Given the description of an element on the screen output the (x, y) to click on. 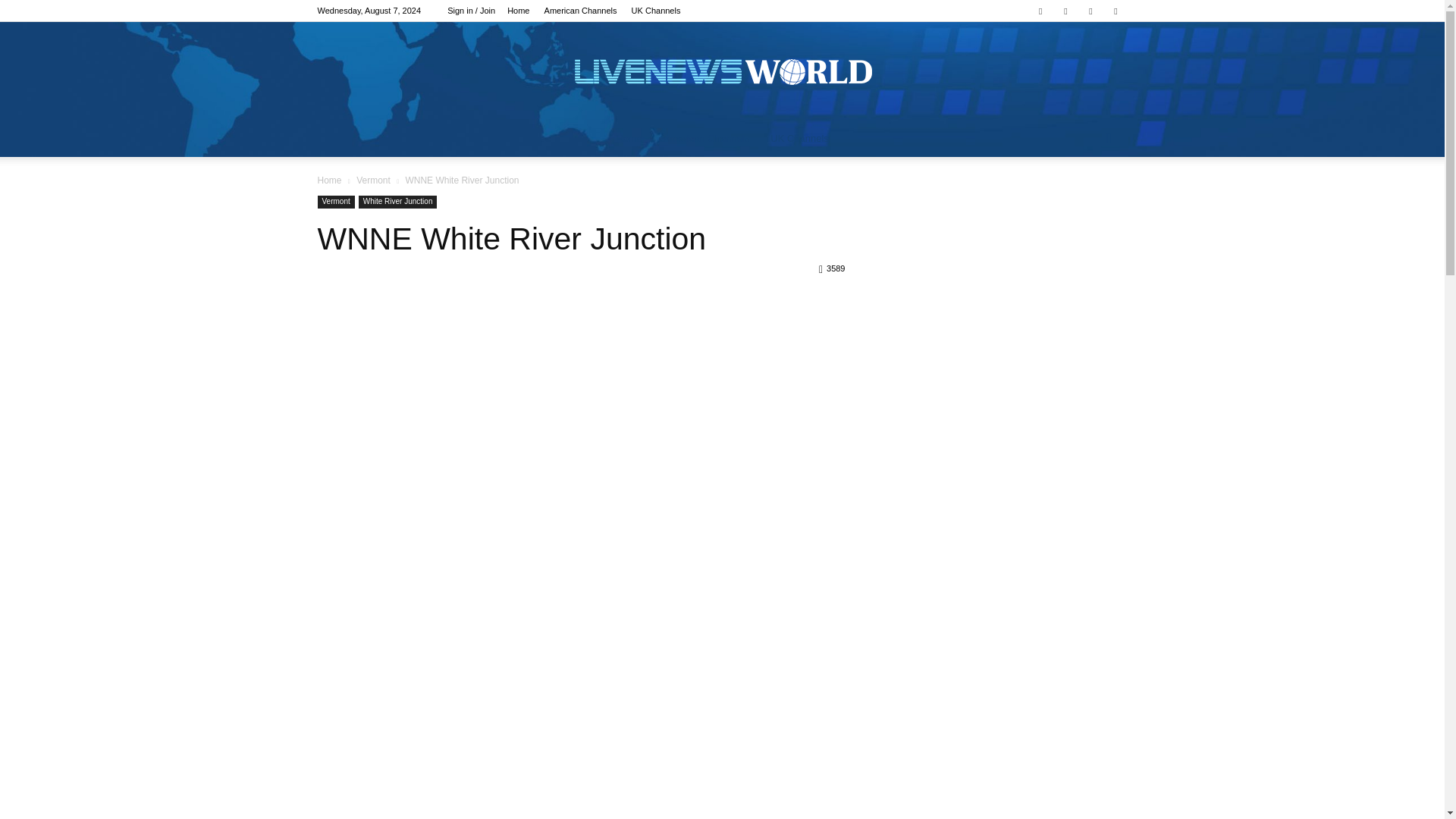
Youtube (1114, 10)
UK Channels (656, 10)
View all posts in Vermont (373, 180)
American Channels (580, 10)
Pinterest (1065, 10)
Twitter (1090, 10)
Facebook (1040, 10)
Home (517, 10)
